Given the description of an element on the screen output the (x, y) to click on. 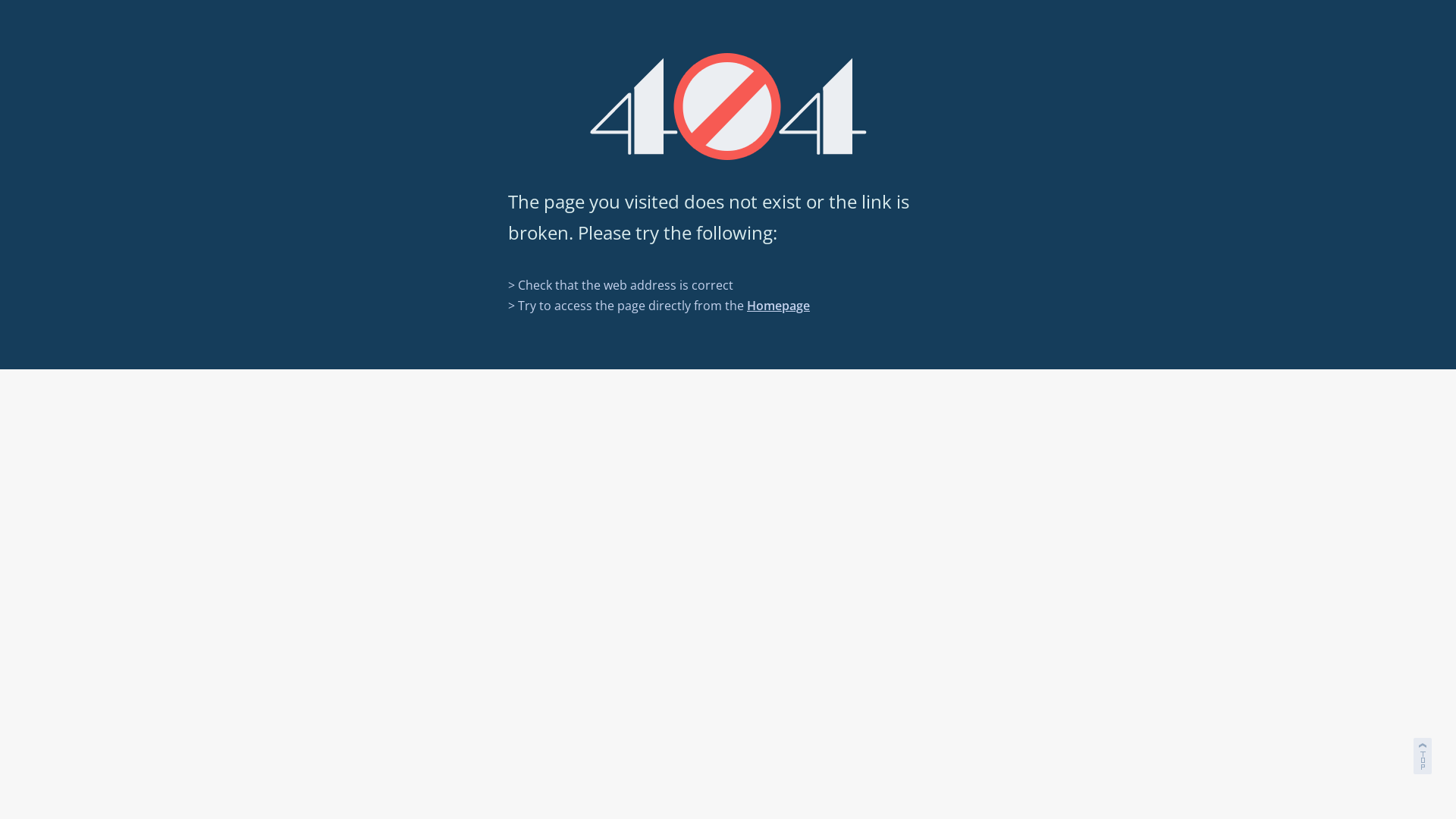
top Element type: text (1423, 753)
Homepage Element type: text (777, 305)
